Given the description of an element on the screen output the (x, y) to click on. 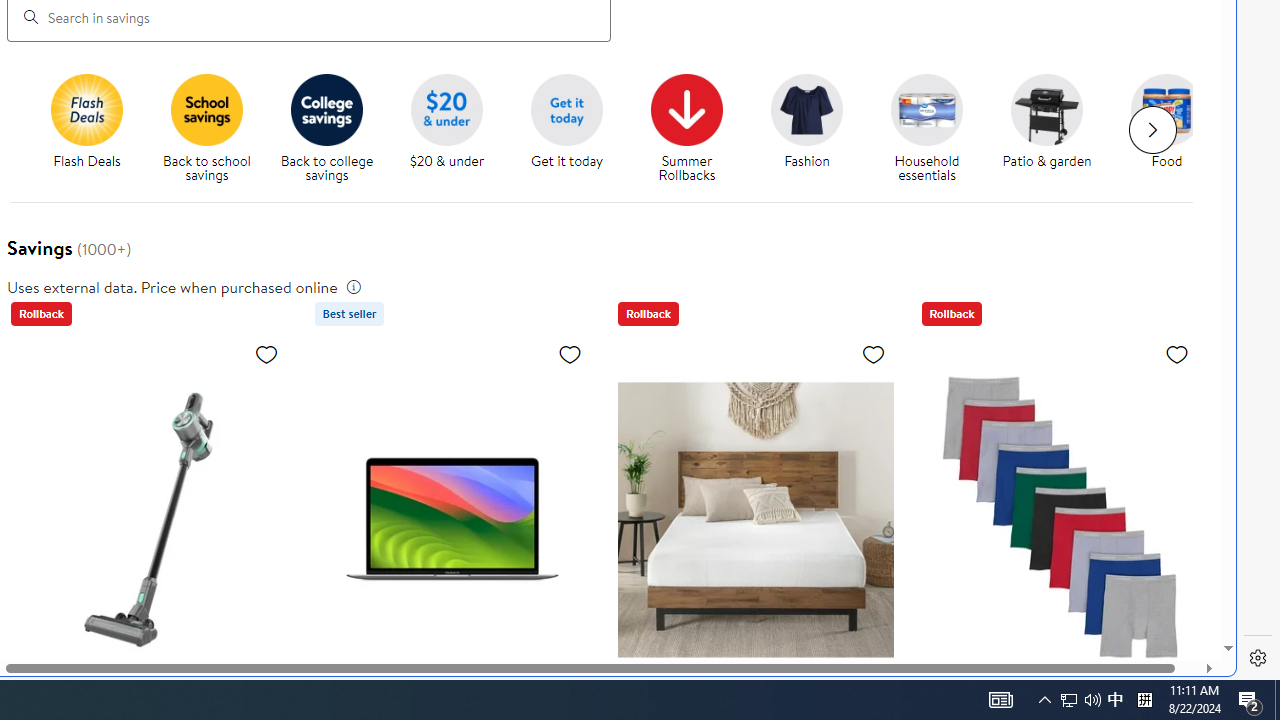
Get it today (574, 128)
Get it today (566, 109)
Food (1167, 109)
Household essentials (926, 109)
Fashion (806, 109)
Flash deals (86, 109)
Food (1174, 128)
Back to College savings Back to college savings (326, 128)
Zinus Spa Sensations Serenity 8" Memory Foam Mattress, Full (755, 519)
Summer Rollbacks (694, 128)
Fashion Fashion (806, 122)
Back to School savings Back to school savings (206, 128)
